Given the description of an element on the screen output the (x, y) to click on. 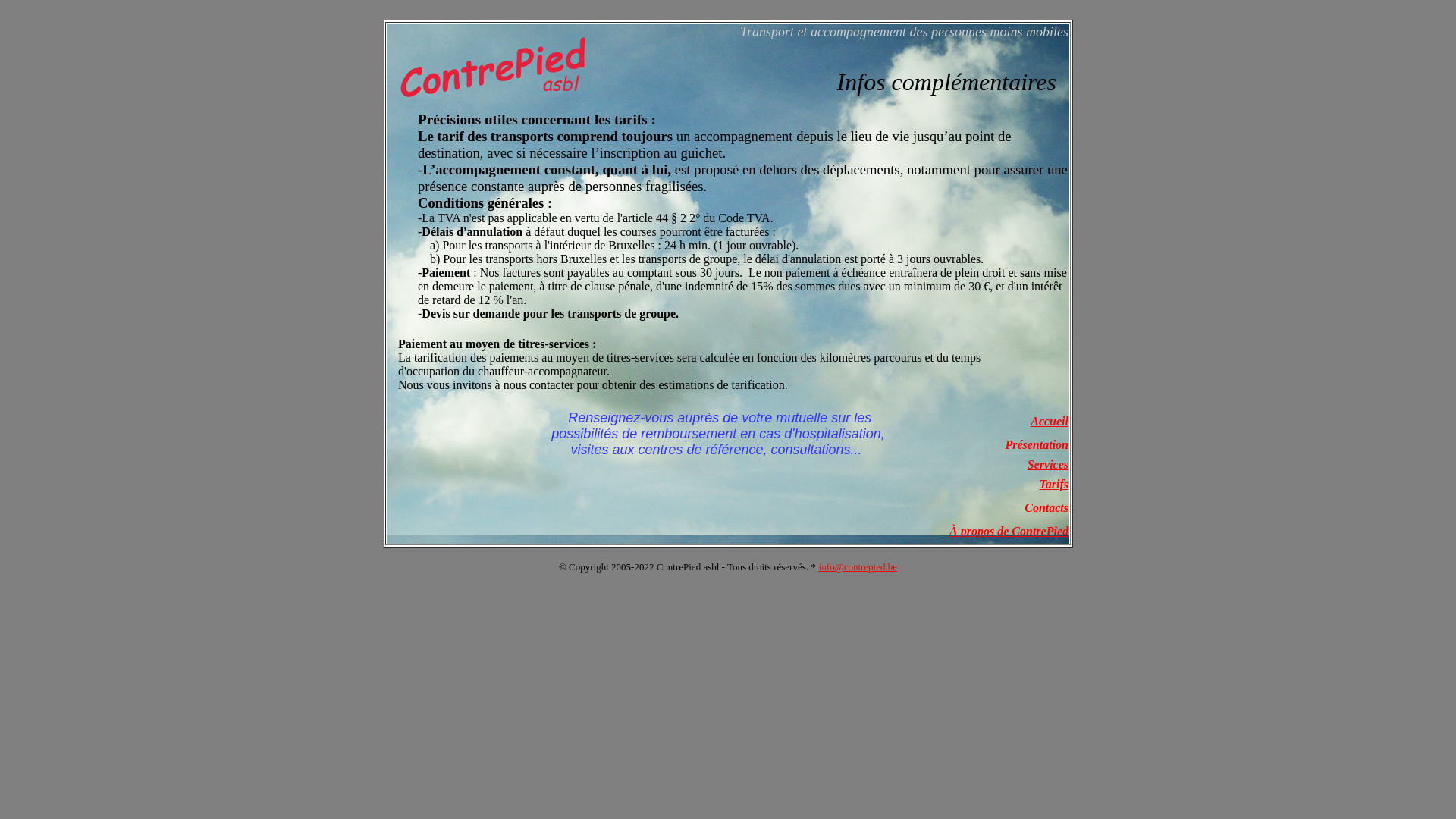
Services Element type: text (1047, 464)
Tarifs Element type: text (1053, 483)
info@contrepied.be Element type: text (858, 566)
Accueil Element type: text (1049, 420)
Contacts Element type: text (1046, 507)
